Given the description of an element on the screen output the (x, y) to click on. 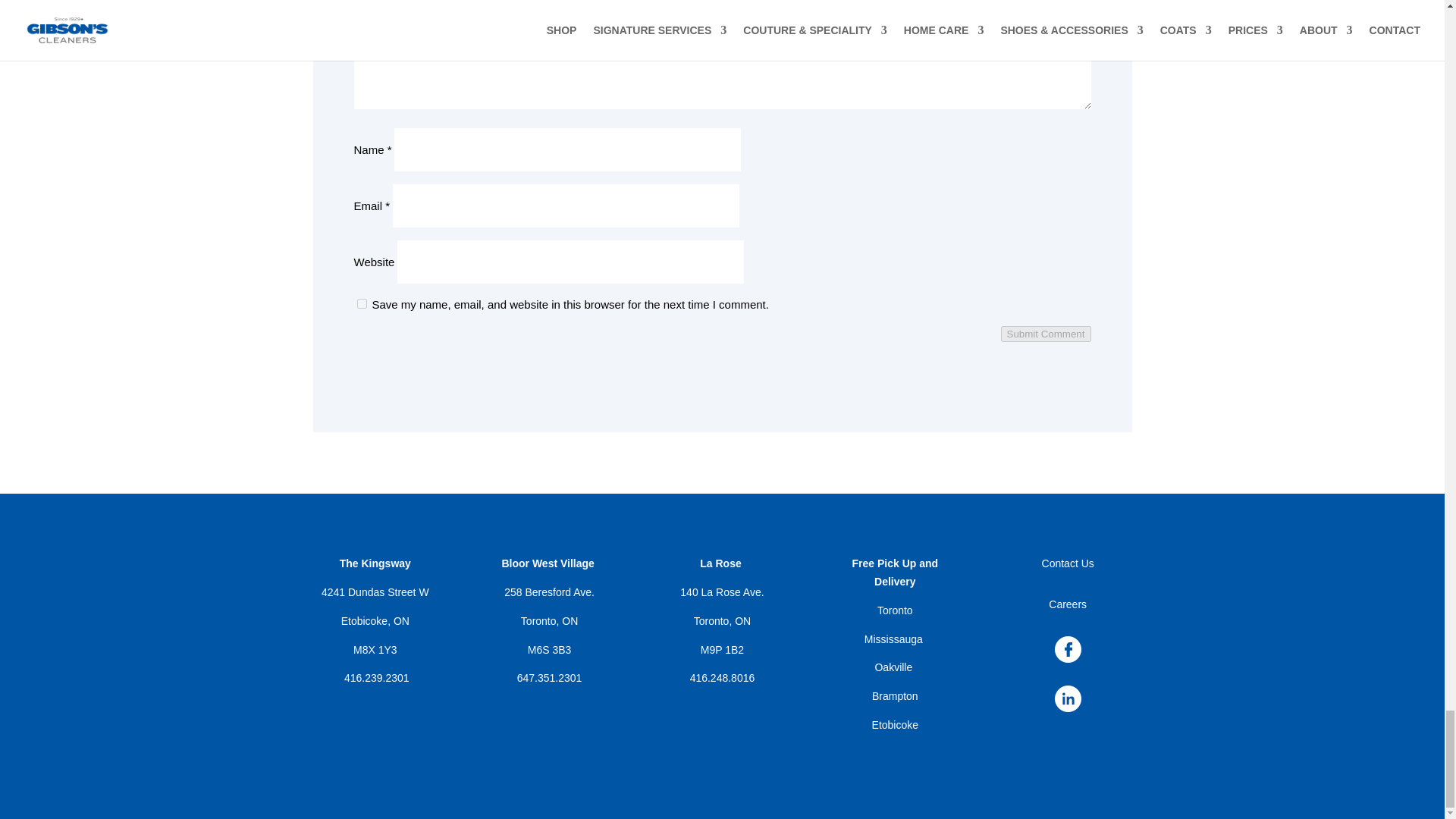
facebook-icon (1067, 649)
linkdin-icons (1067, 698)
yes (361, 303)
